Given the description of an element on the screen output the (x, y) to click on. 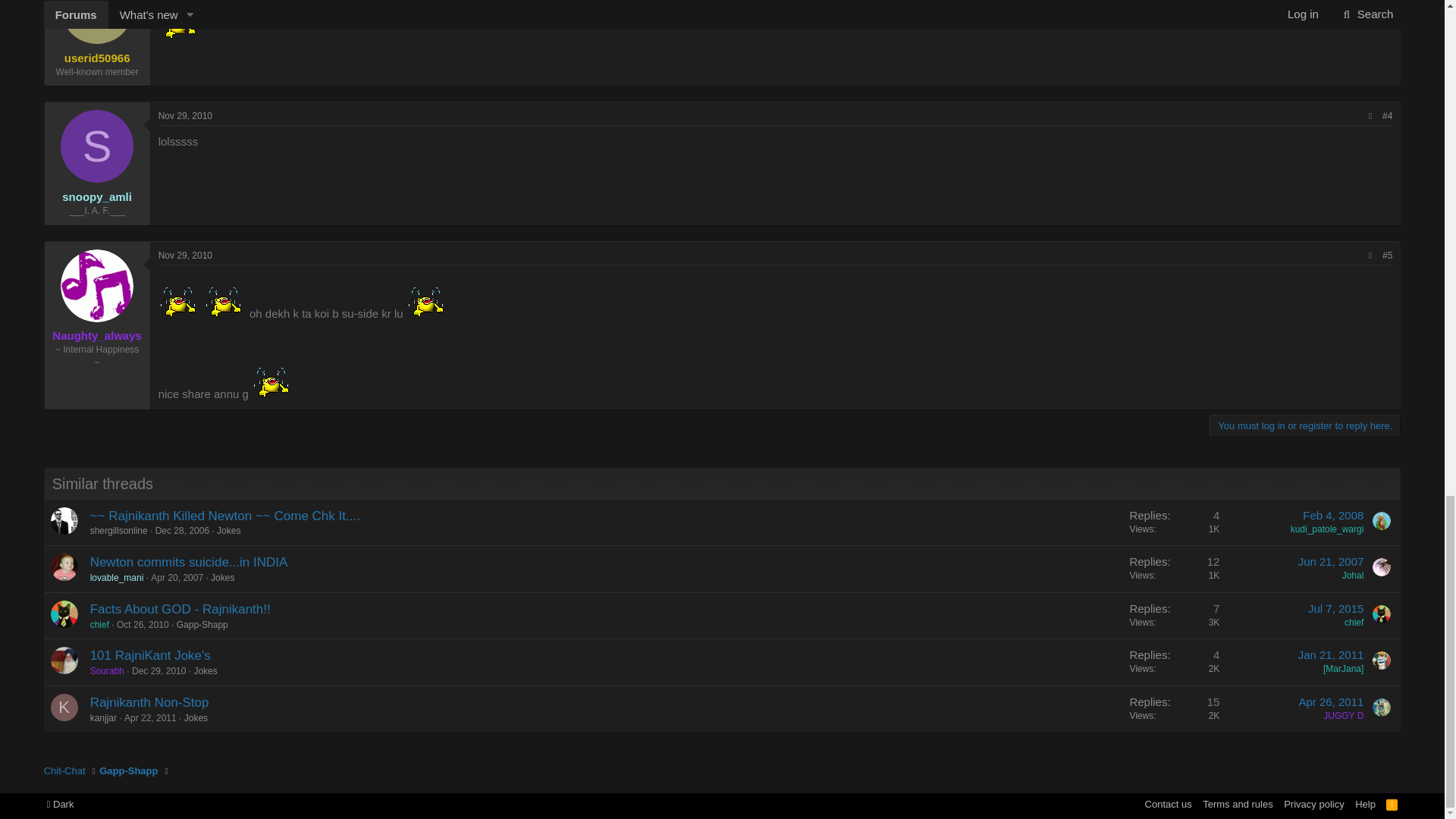
U (97, 22)
userid50966 (97, 57)
